Given the description of an element on the screen output the (x, y) to click on. 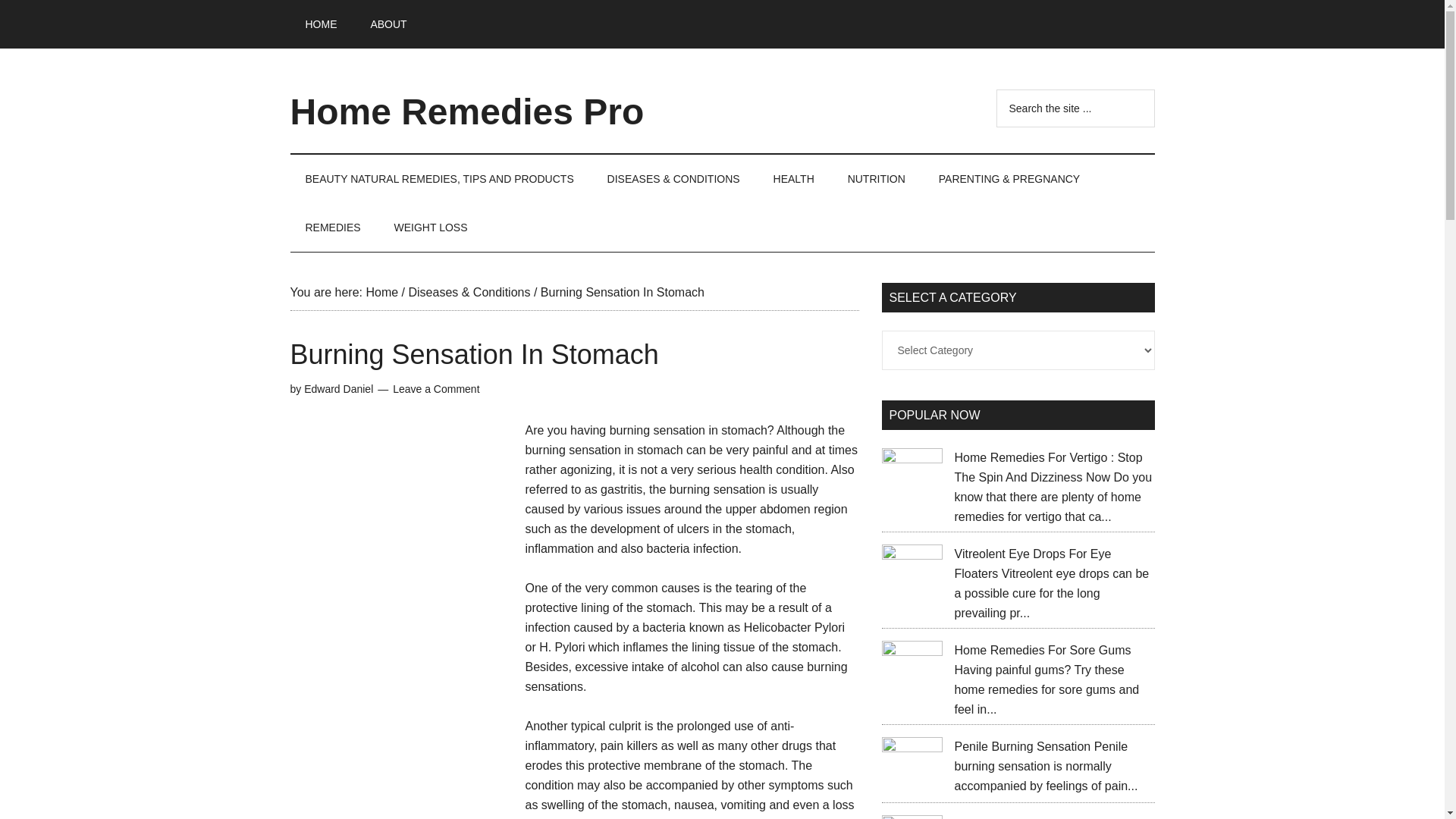
HEALTH (793, 178)
Edward Daniel (338, 388)
BEAUTY NATURAL REMEDIES, TIPS AND PRODUCTS (438, 178)
Home Remedies Pro (466, 111)
HOME (320, 24)
ABOUT (388, 24)
NUTRITION (876, 178)
Home (381, 291)
